Given the description of an element on the screen output the (x, y) to click on. 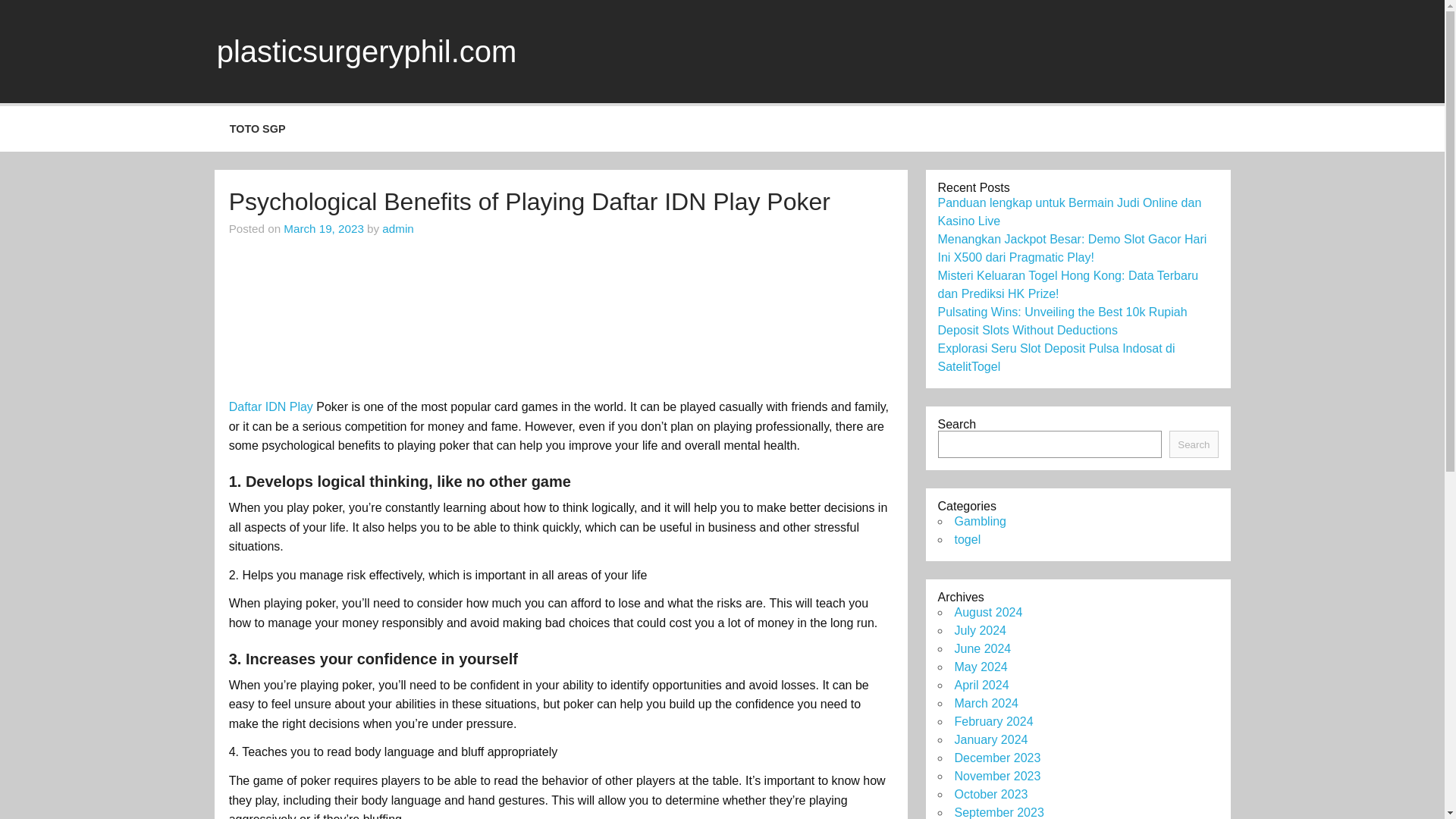
August 2024 (987, 612)
January 2024 (990, 739)
Search (1193, 443)
December 2023 (997, 757)
Daftar IDN Play (270, 406)
Explorasi Seru Slot Deposit Pulsa Indosat di SatelitTogel (1055, 357)
2:09 am (323, 228)
View all posts by admin (397, 228)
